Given the description of an element on the screen output the (x, y) to click on. 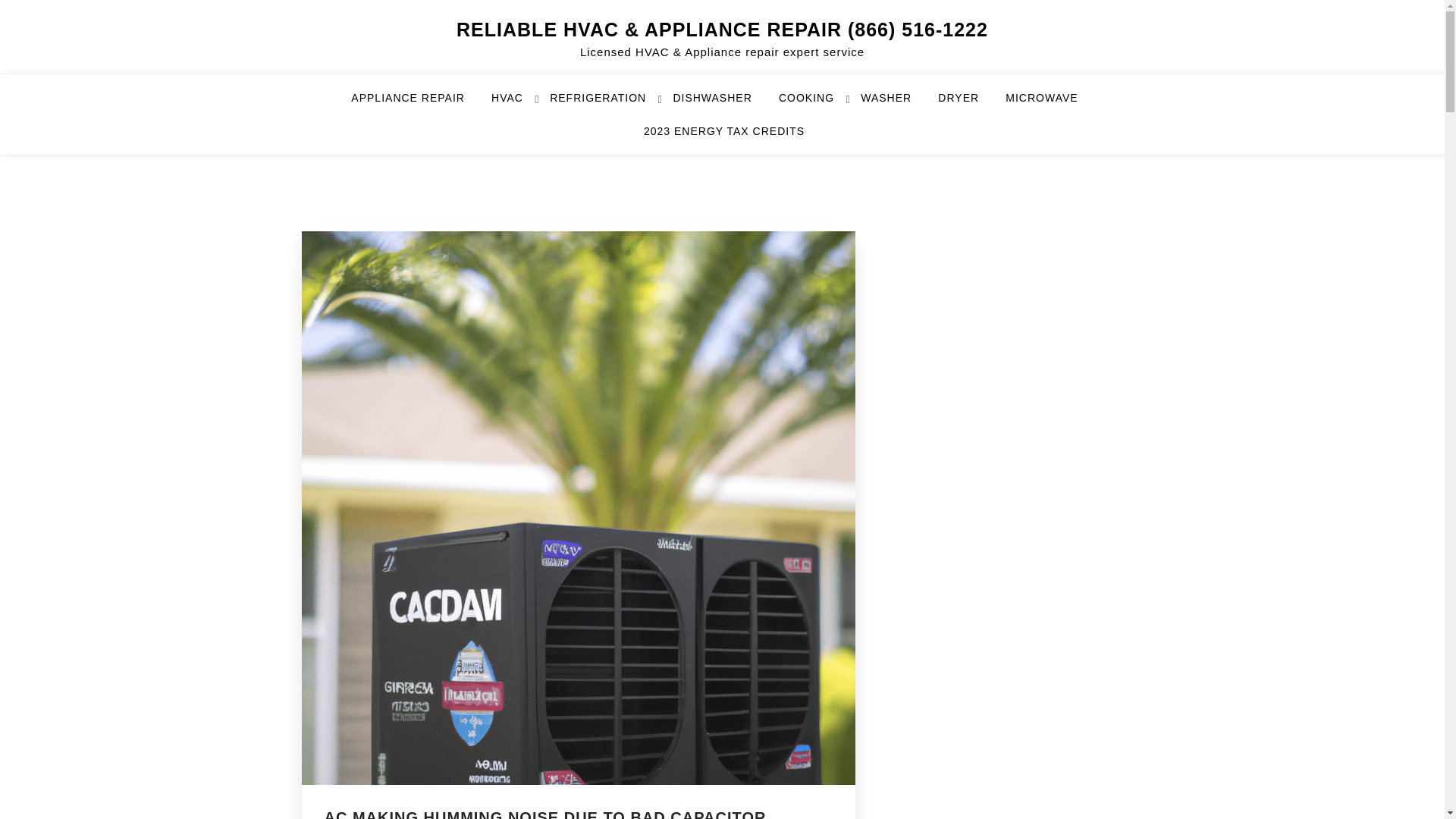
MICROWAVE (1051, 104)
COOKING (815, 104)
WASHER (895, 104)
DISHWASHER (721, 104)
REFRIGERATION (607, 104)
APPLIANCE REPAIR (416, 104)
HVAC (516, 104)
DRYER (967, 104)
